Given the description of an element on the screen output the (x, y) to click on. 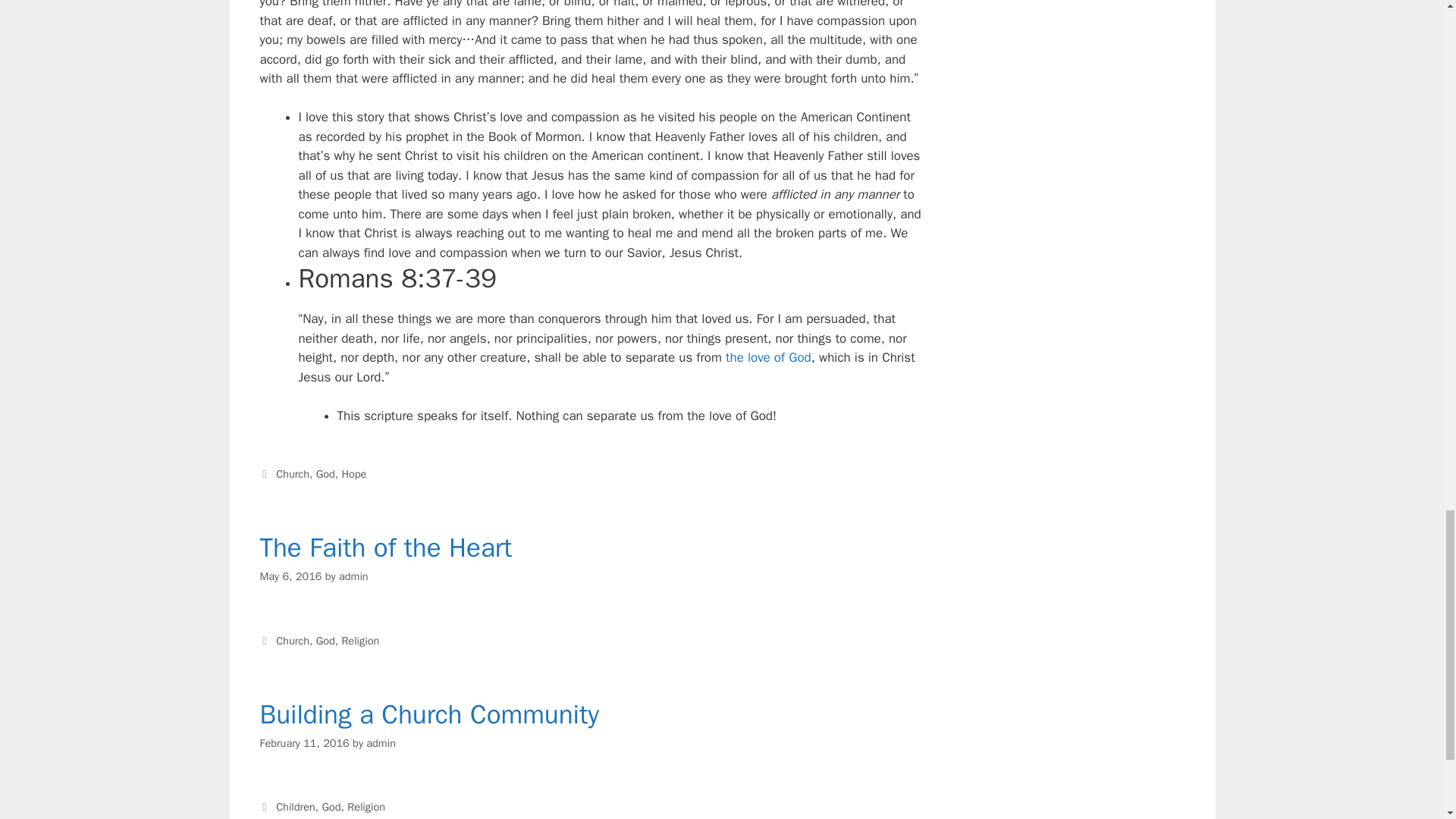
View all posts by admin (381, 743)
View all posts by admin (353, 576)
